Given the description of an element on the screen output the (x, y) to click on. 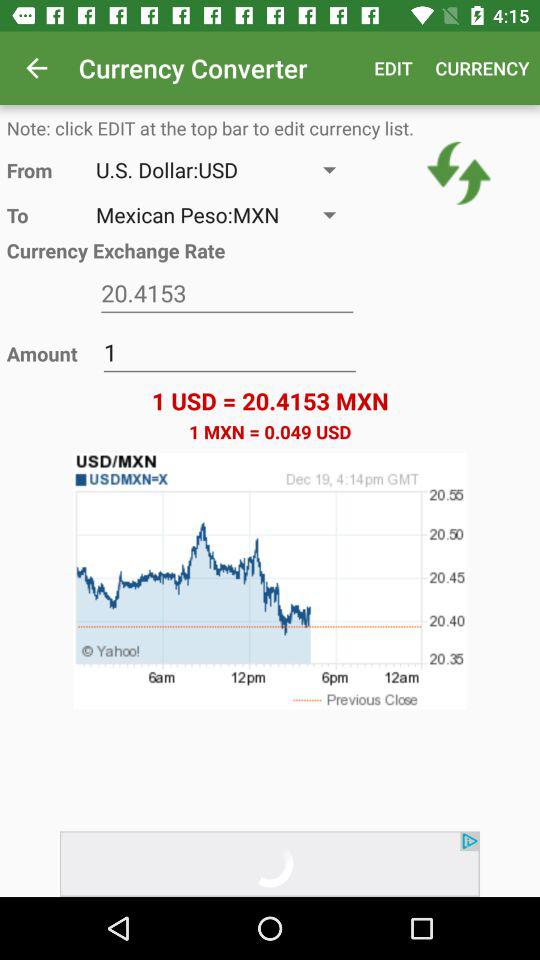
will redirect to an advertisement (270, 864)
